Given the description of an element on the screen output the (x, y) to click on. 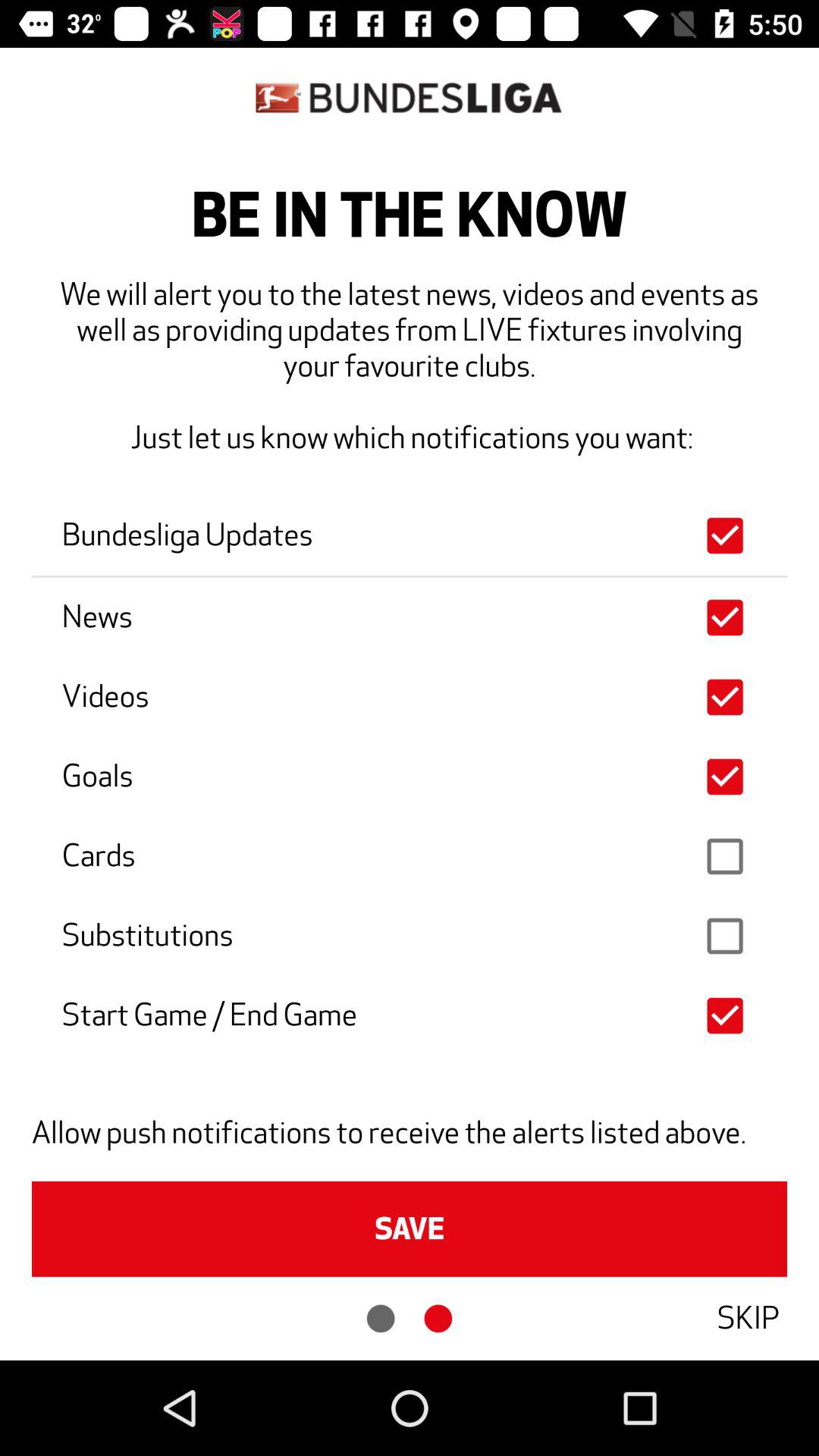
click item above the skip icon (409, 1228)
